Given the description of an element on the screen output the (x, y) to click on. 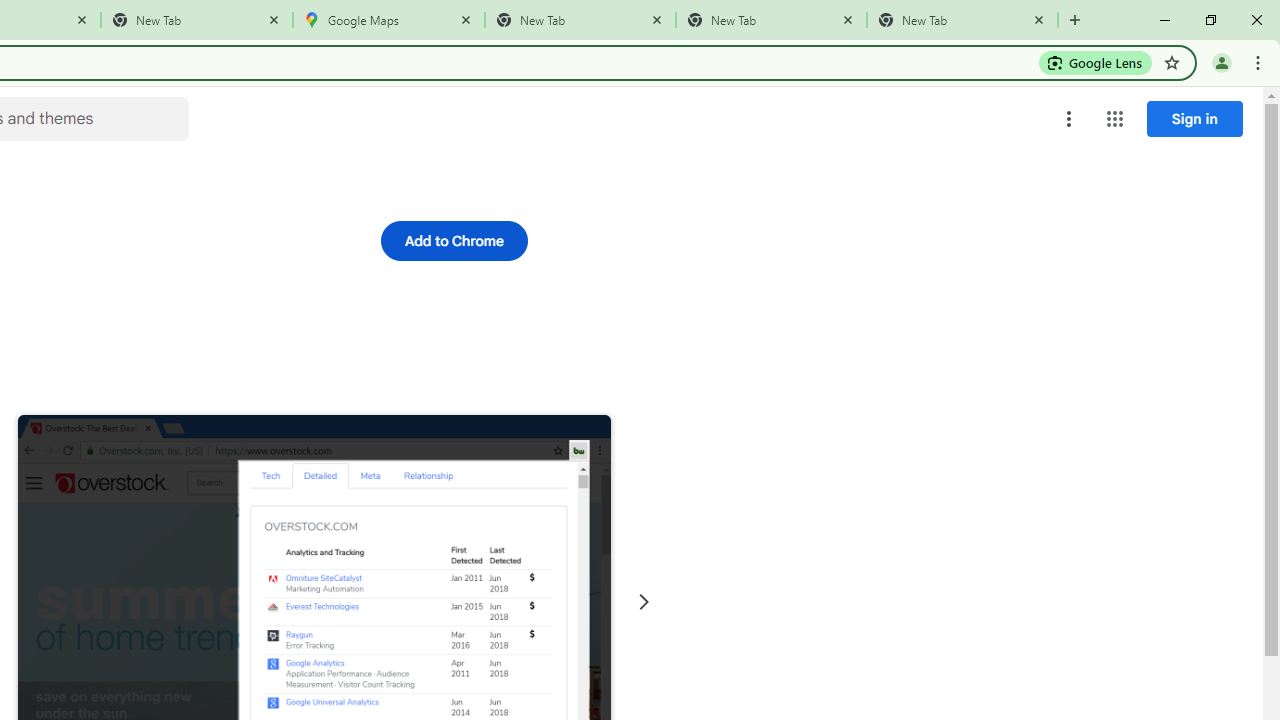
Next slide (643, 601)
Add to Chrome (453, 240)
More options menu (1069, 118)
Google Maps (389, 20)
New Tab (197, 20)
New Tab (962, 20)
Search with Google Lens (1095, 62)
